Given the description of an element on the screen output the (x, y) to click on. 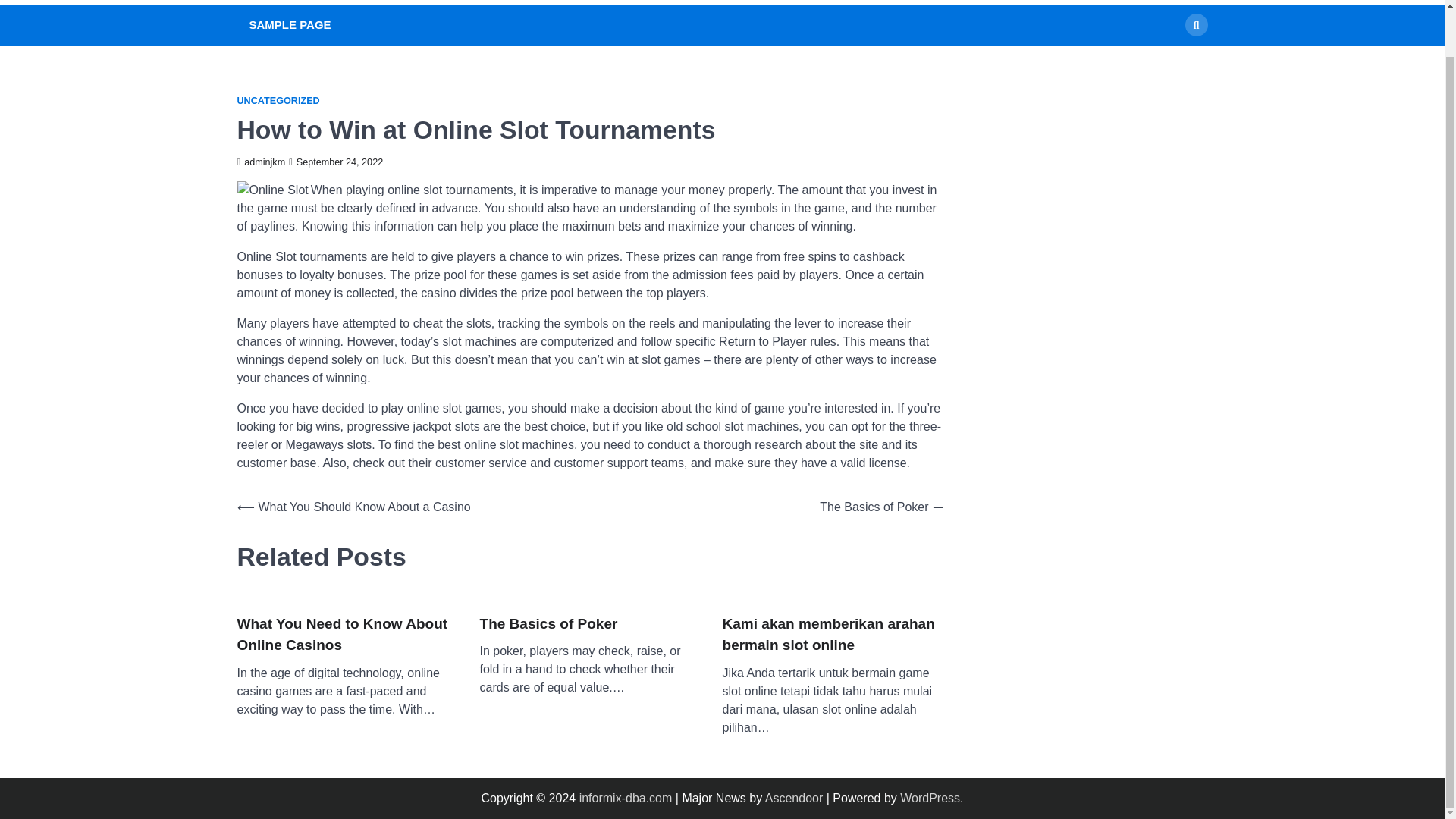
The Basics of Poker (548, 624)
Search (1196, 24)
Ascendoor (794, 797)
Kami akan memberikan arahan bermain slot online (832, 634)
informix-dba.com (625, 797)
Search (1168, 59)
UNCATEGORIZED (276, 101)
SAMPLE PAGE (289, 25)
September 24, 2022 (335, 162)
What You Need to Know About Online Casinos (346, 634)
